Given the description of an element on the screen output the (x, y) to click on. 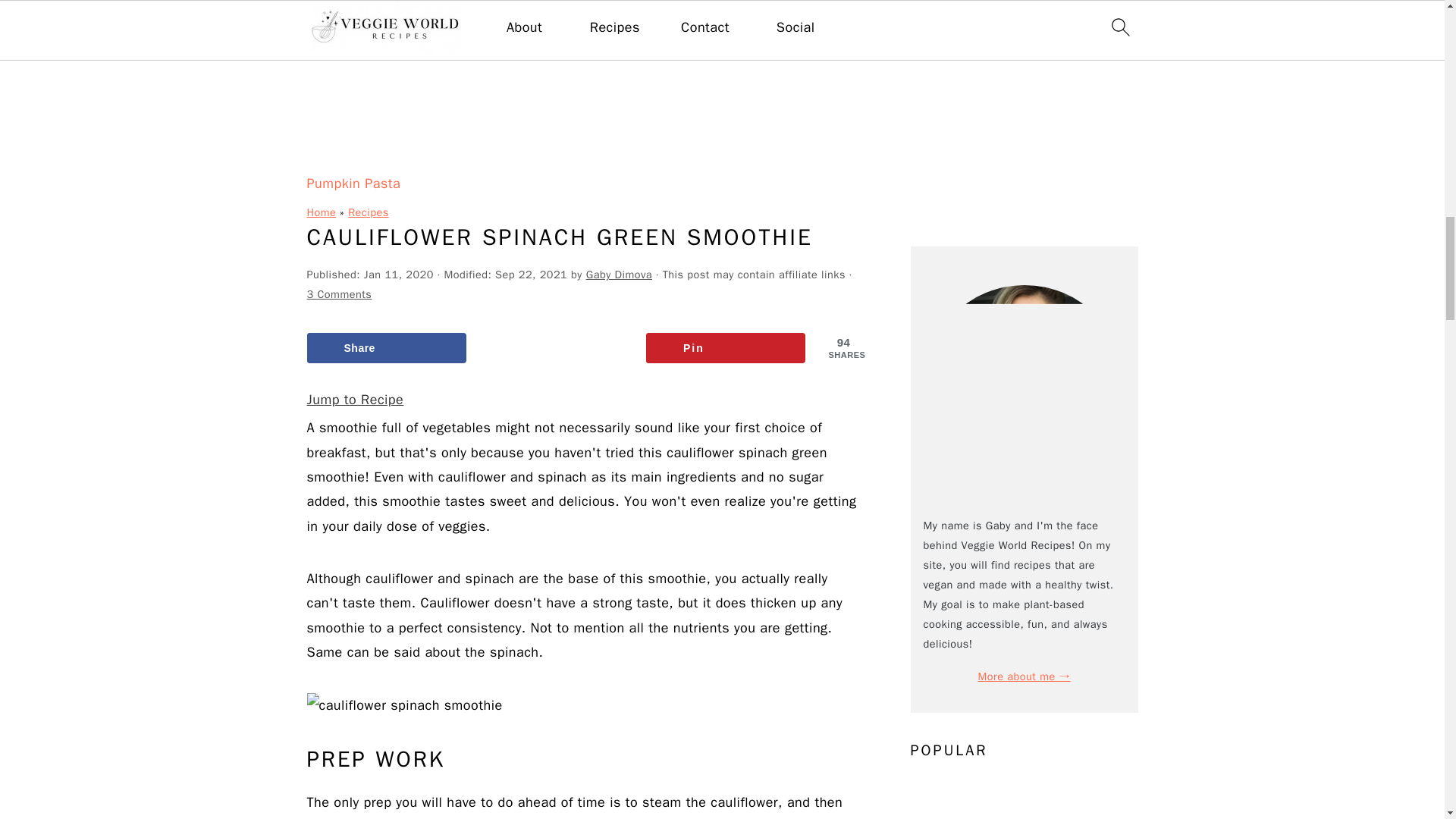
Share on Facebook (385, 347)
Save to Pinterest (726, 347)
Share on X (556, 347)
